Given the description of an element on the screen output the (x, y) to click on. 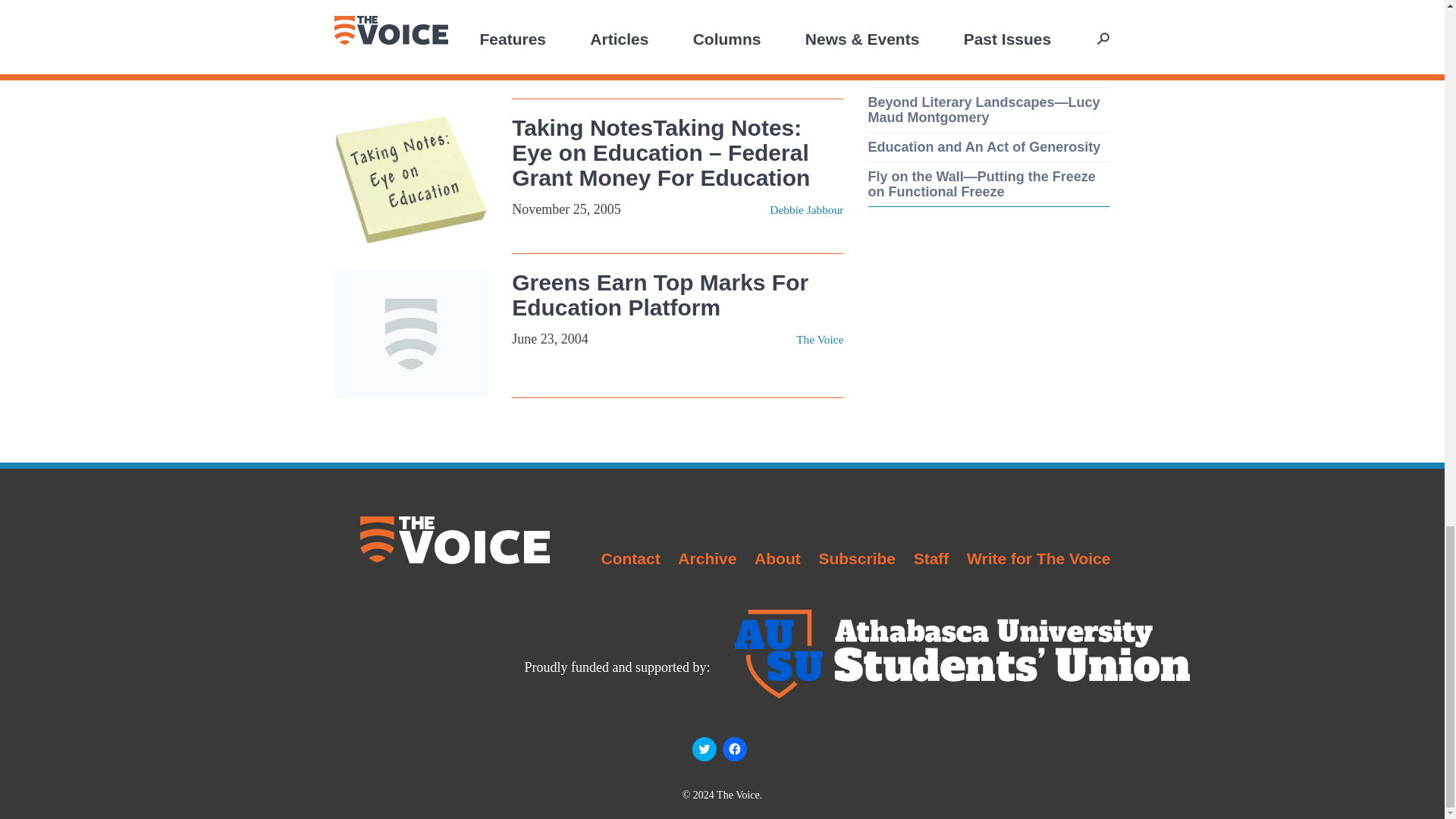
Posts by Debbie Jabbour (806, 209)
Greens Earn Top Marks For Education Platform (660, 295)
Debbie Jabbour (806, 209)
Posts by Ryan Pike (818, 53)
Posts by The Voice (819, 338)
The Voice (819, 338)
Ryan Pike (818, 53)
